Given the description of an element on the screen output the (x, y) to click on. 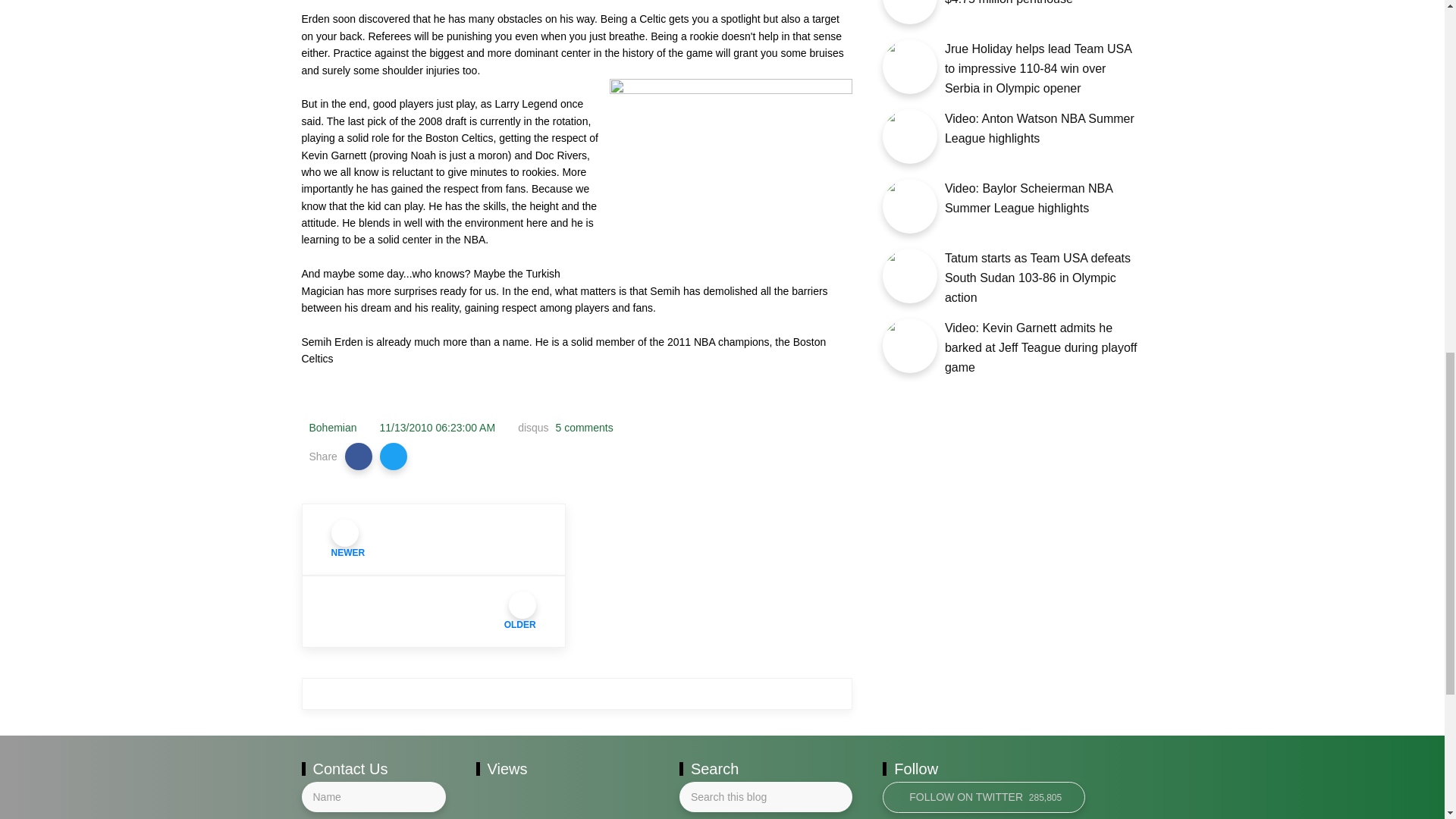
5 comments (582, 427)
NEWER (433, 539)
OLDER (433, 611)
Bohemian (332, 427)
Share to Twitter (393, 456)
permanent link (438, 427)
Share to Facebook (358, 456)
author profile (332, 427)
